Given the description of an element on the screen output the (x, y) to click on. 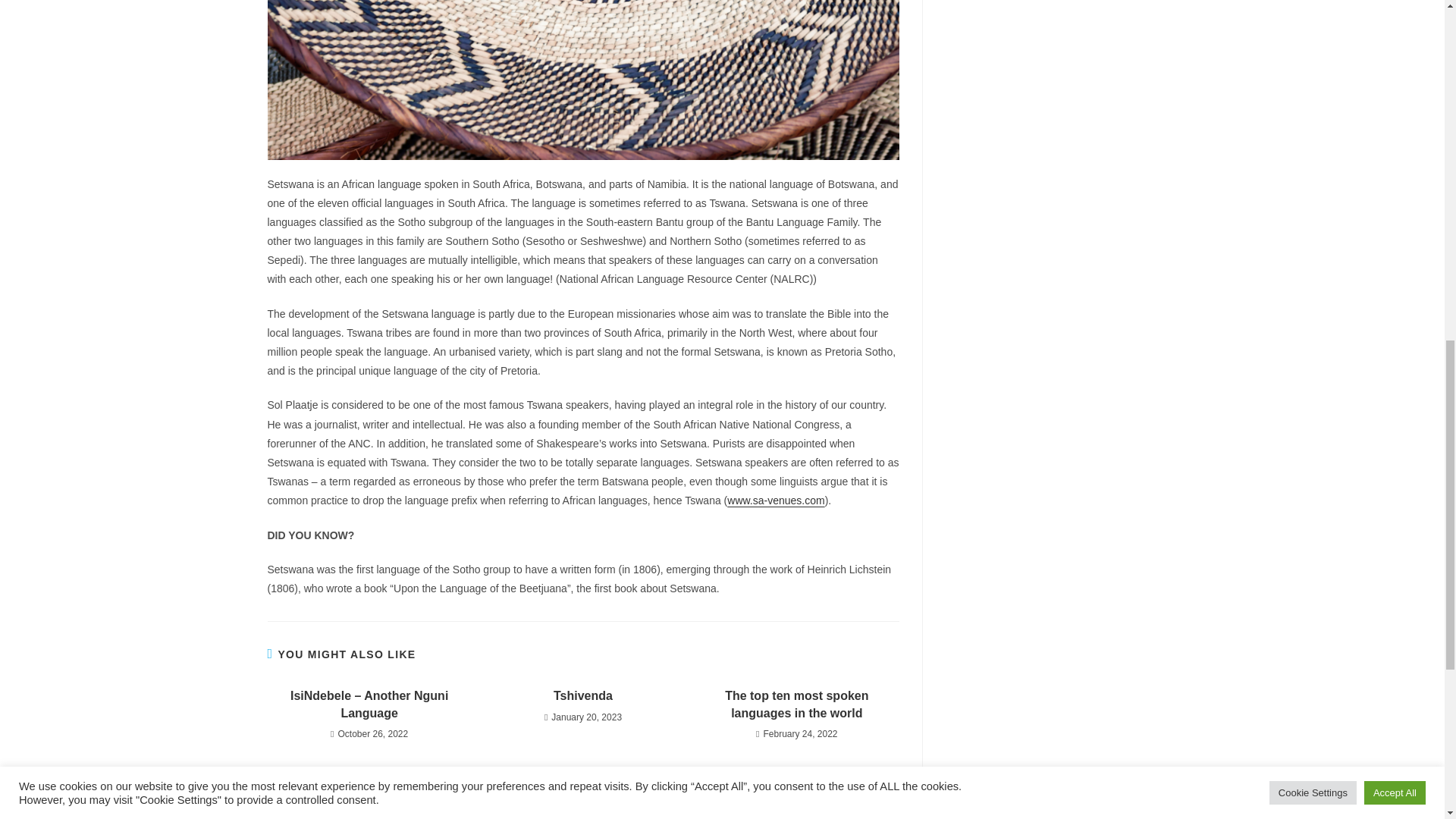
Tshivenda (582, 695)
www.sa-venues.com (775, 500)
The top ten most spoken languages in the world (796, 704)
